Given the description of an element on the screen output the (x, y) to click on. 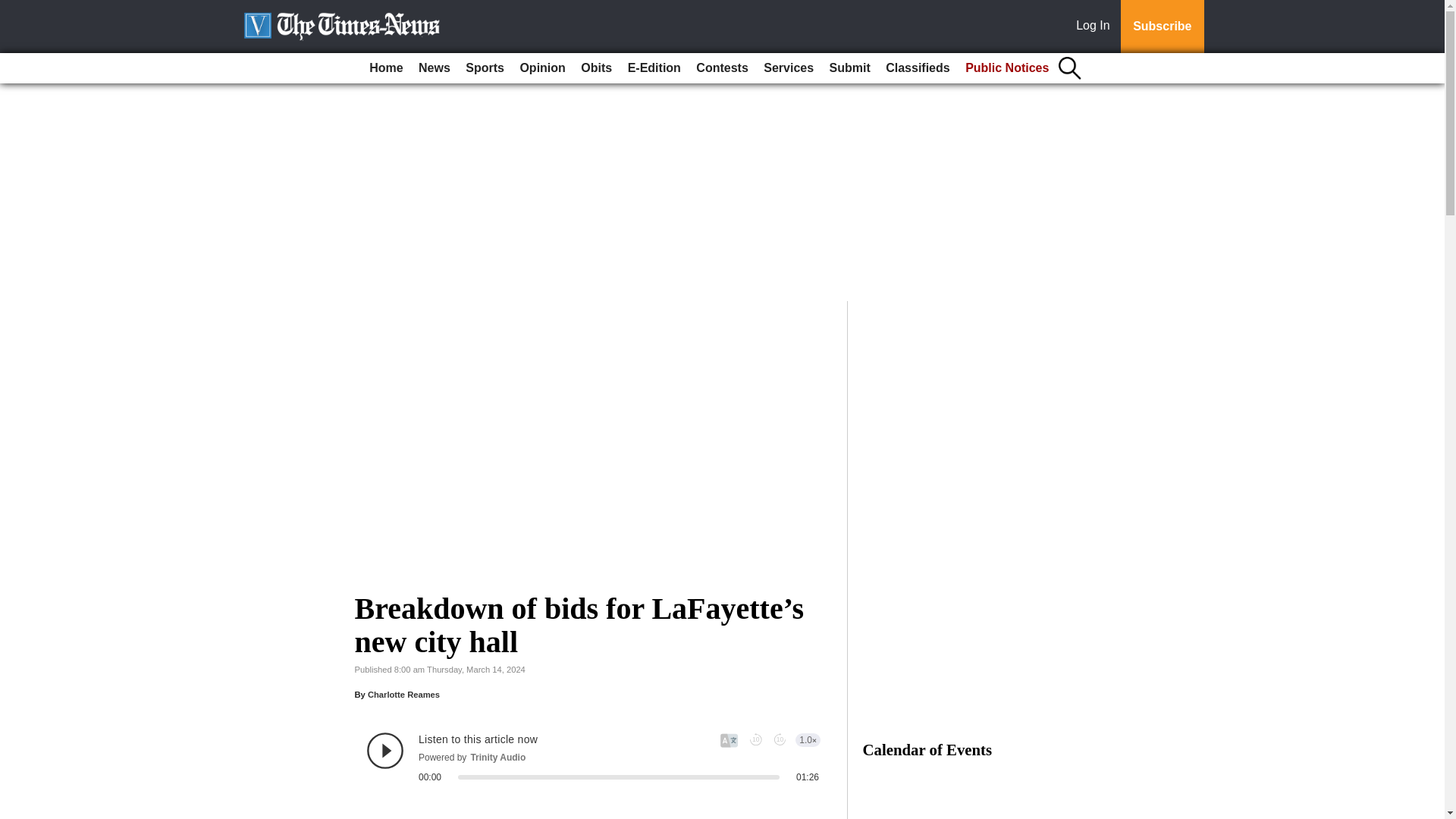
Opinion (541, 68)
News (434, 68)
Sports (485, 68)
Public Notices (1006, 68)
Services (788, 68)
Subscribe (1162, 26)
E-Edition (654, 68)
Obits (596, 68)
Charlotte Reames (403, 694)
Go (13, 9)
Submit (850, 68)
Log In (1095, 26)
Classifieds (917, 68)
Home (385, 68)
Contests (722, 68)
